Given the description of an element on the screen output the (x, y) to click on. 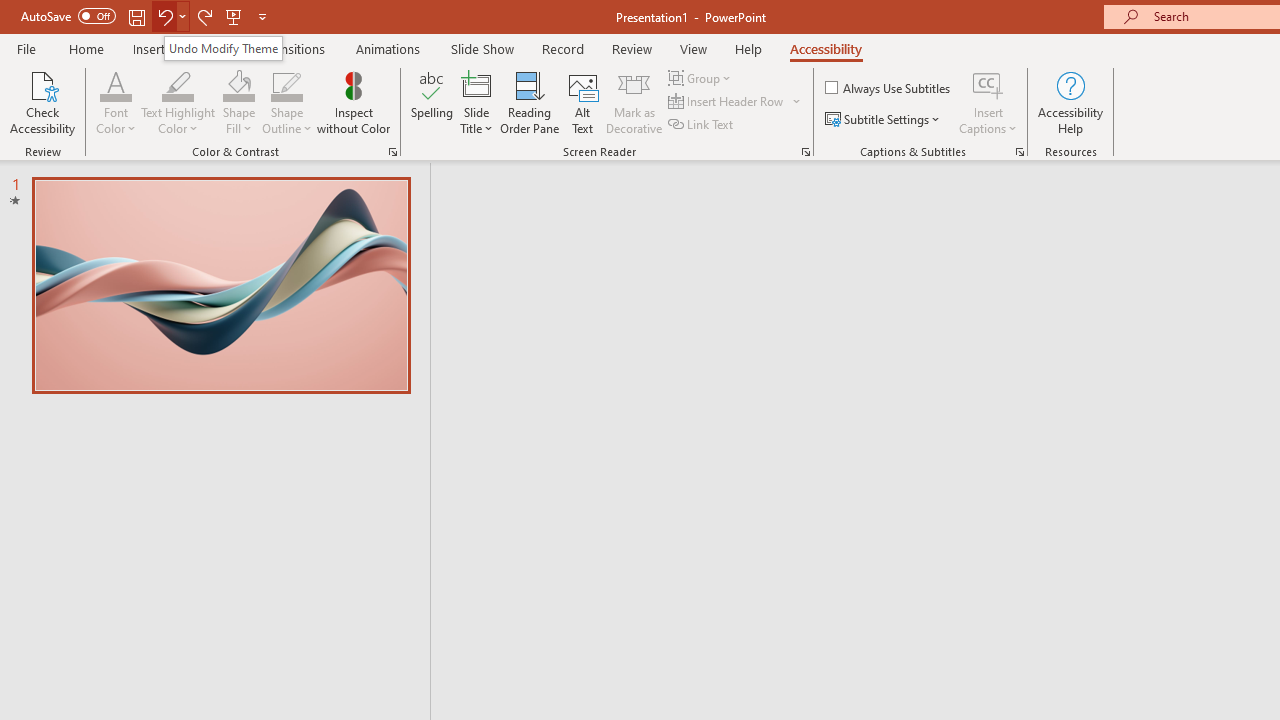
Undo Modify Theme (222, 48)
Insert Captions (988, 84)
Accessibility Help (1070, 102)
Spelling... (432, 102)
Inspect without Color (353, 102)
